Given the description of an element on the screen output the (x, y) to click on. 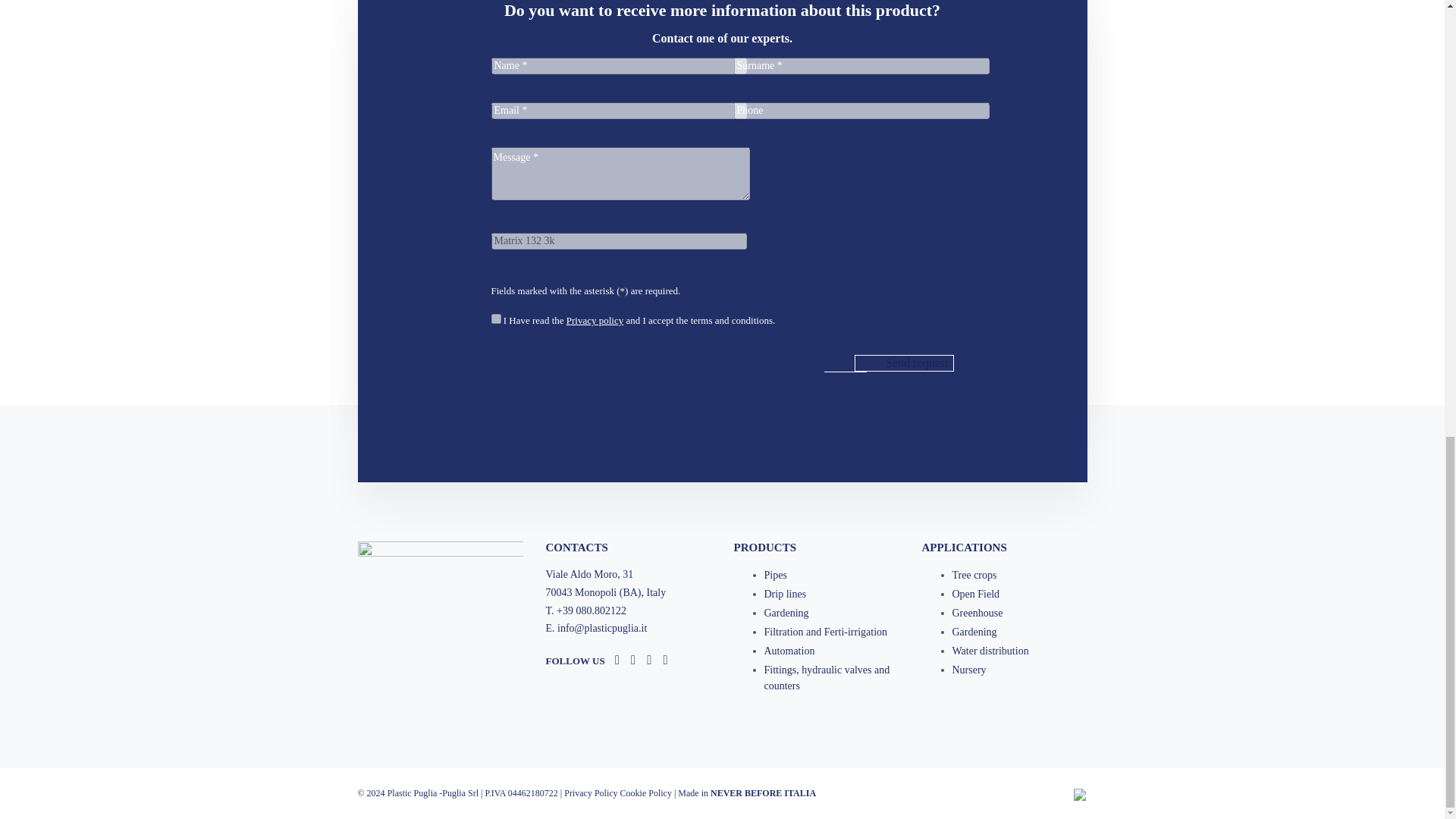
Send request (903, 362)
Matrix 132 3k (619, 240)
1 (496, 318)
